Given the description of an element on the screen output the (x, y) to click on. 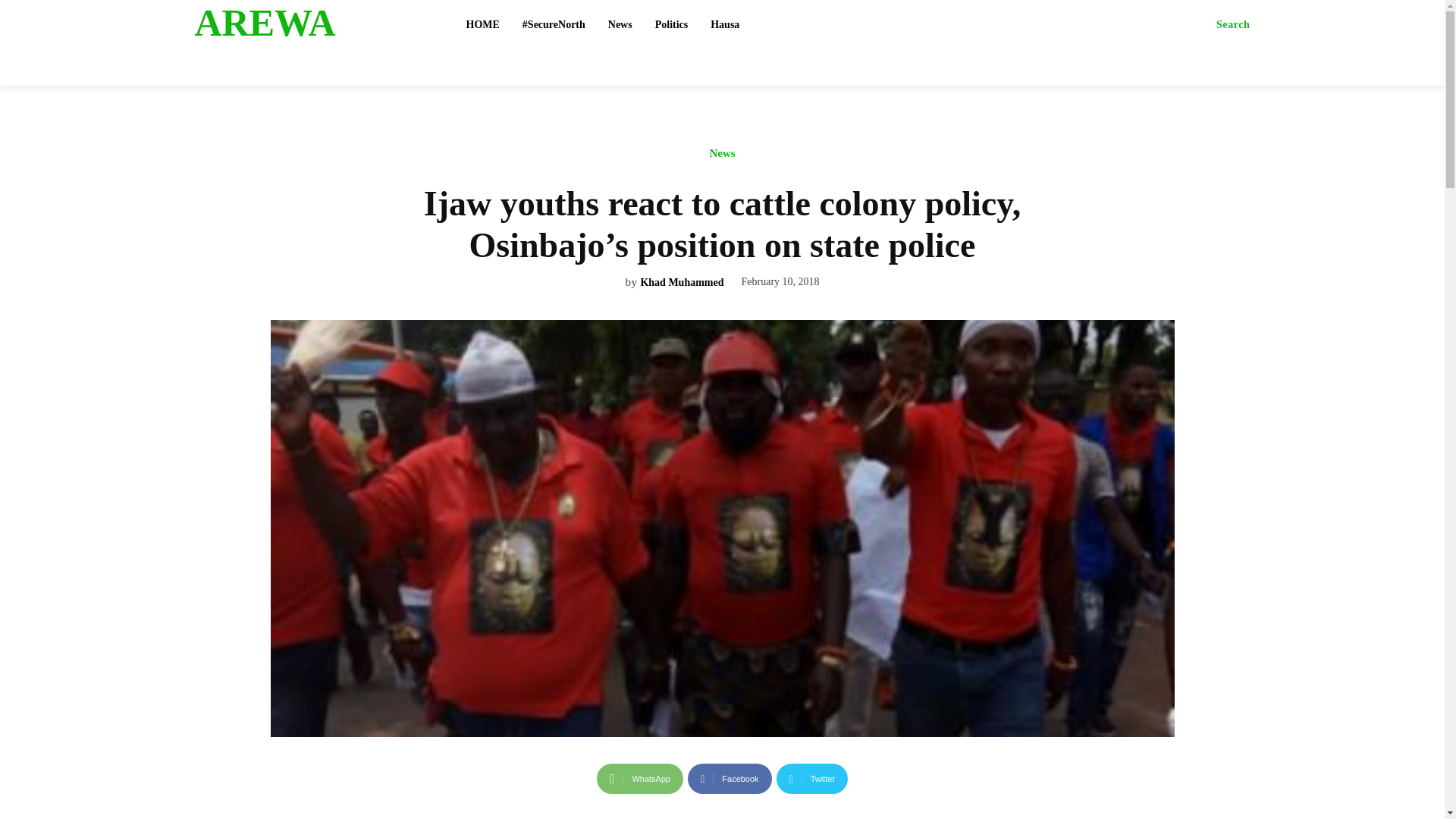
AREWA (311, 22)
Twitter (812, 778)
HOME (482, 24)
Facebook (729, 778)
News (619, 24)
WhatsApp (639, 778)
Twitter (812, 778)
News (721, 156)
Search (1232, 24)
Facebook (729, 778)
